Given the description of an element on the screen output the (x, y) to click on. 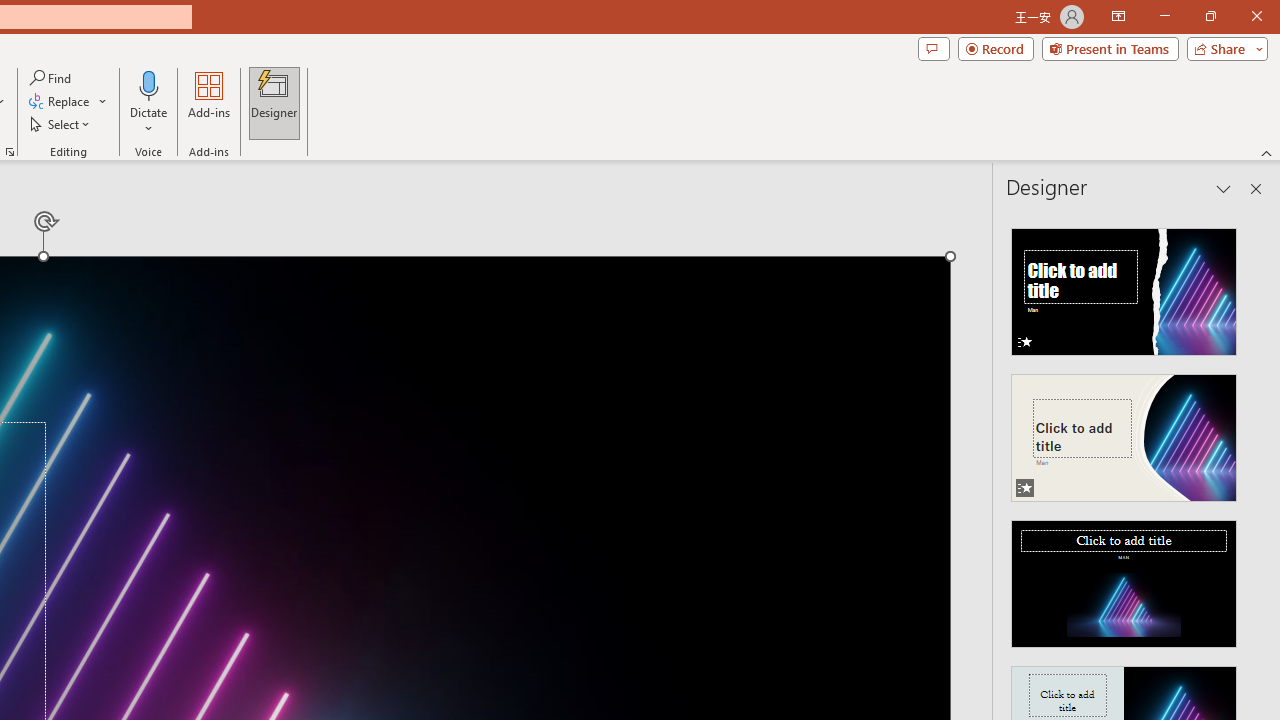
Task Pane Options (1224, 188)
Close pane (1256, 188)
Share (1223, 48)
More Options (149, 121)
Restore Down (1210, 16)
Present in Teams (1109, 48)
Select (61, 124)
Design Idea with Animation (1124, 431)
Close (1256, 16)
Find... (51, 78)
